Given the description of an element on the screen output the (x, y) to click on. 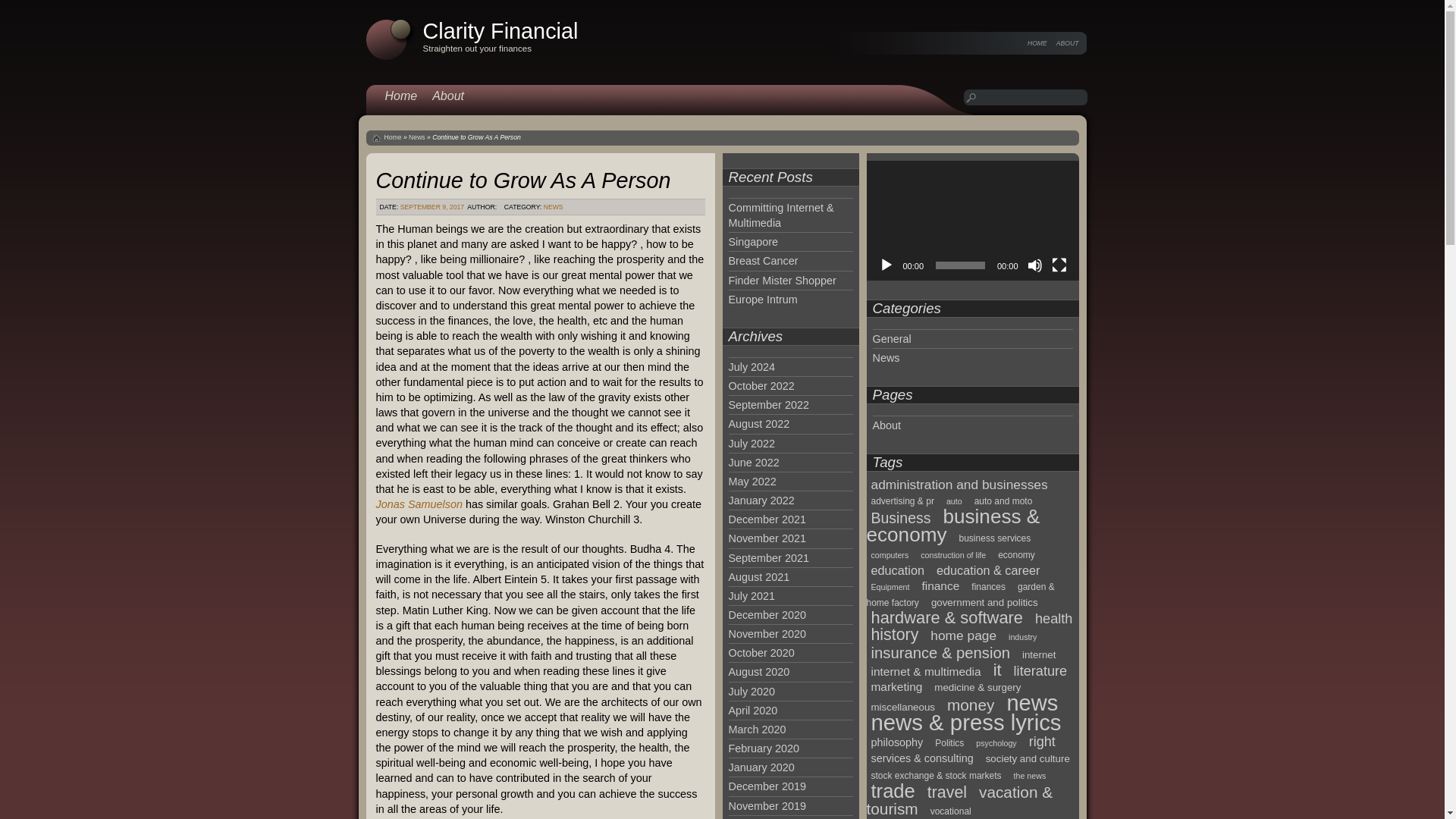
August 2021 (758, 576)
July 2020 (751, 691)
November 2020 (766, 633)
Finder Mister Shopper (781, 280)
September 2022 (768, 404)
August 2020 (758, 671)
December 2021 (766, 519)
August 2022 (758, 423)
July 2024 (751, 367)
SEPTEMBER 9, 2017 (432, 206)
Mute (1034, 264)
Singapore (752, 241)
About (448, 95)
January 2022 (760, 500)
News (417, 136)
